Given the description of an element on the screen output the (x, y) to click on. 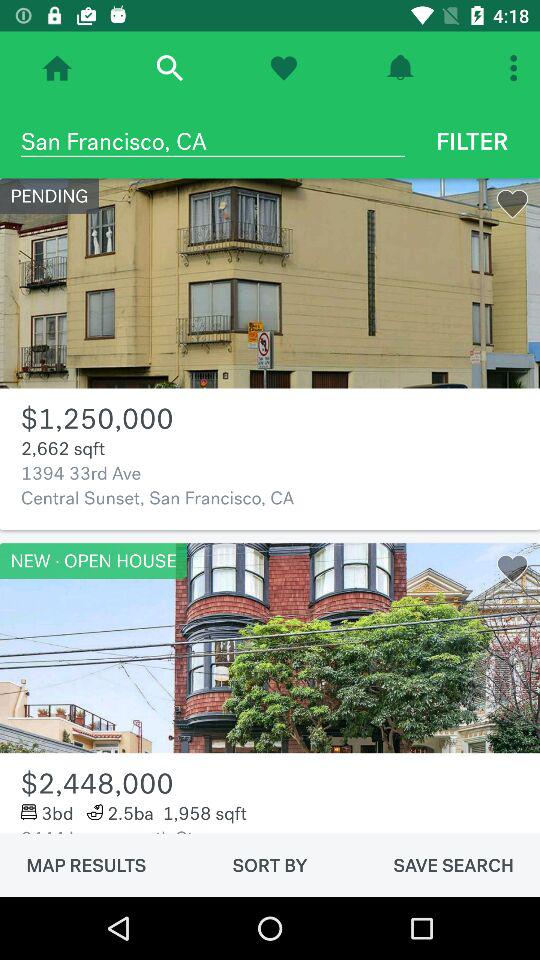
search item (169, 68)
